Given the description of an element on the screen output the (x, y) to click on. 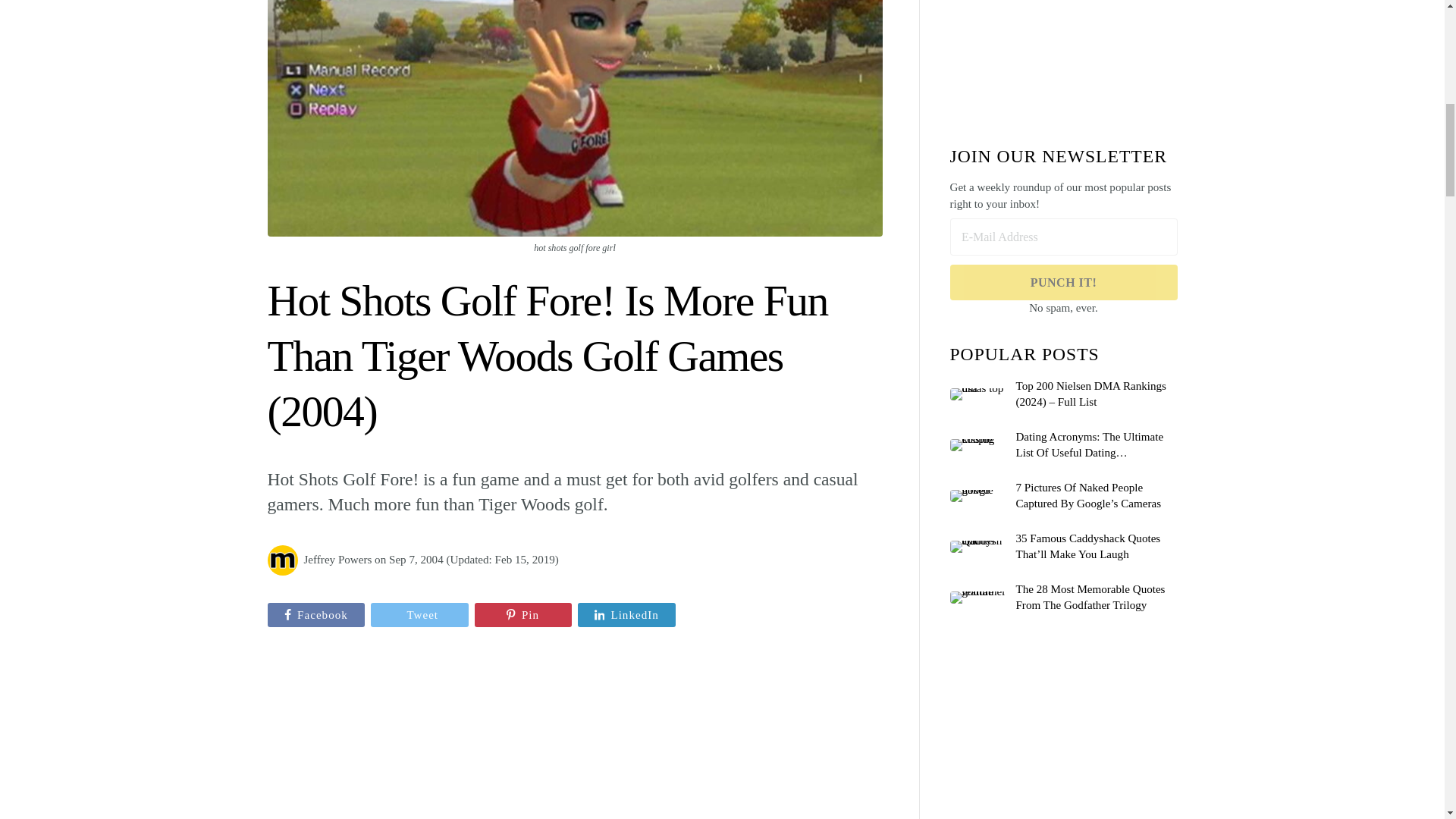
Share on LinkedIn (626, 614)
Share on Pinterest (523, 614)
Share on Twitter (419, 614)
Punch It! (1062, 281)
Share on Facebook (315, 614)
